Given the description of an element on the screen output the (x, y) to click on. 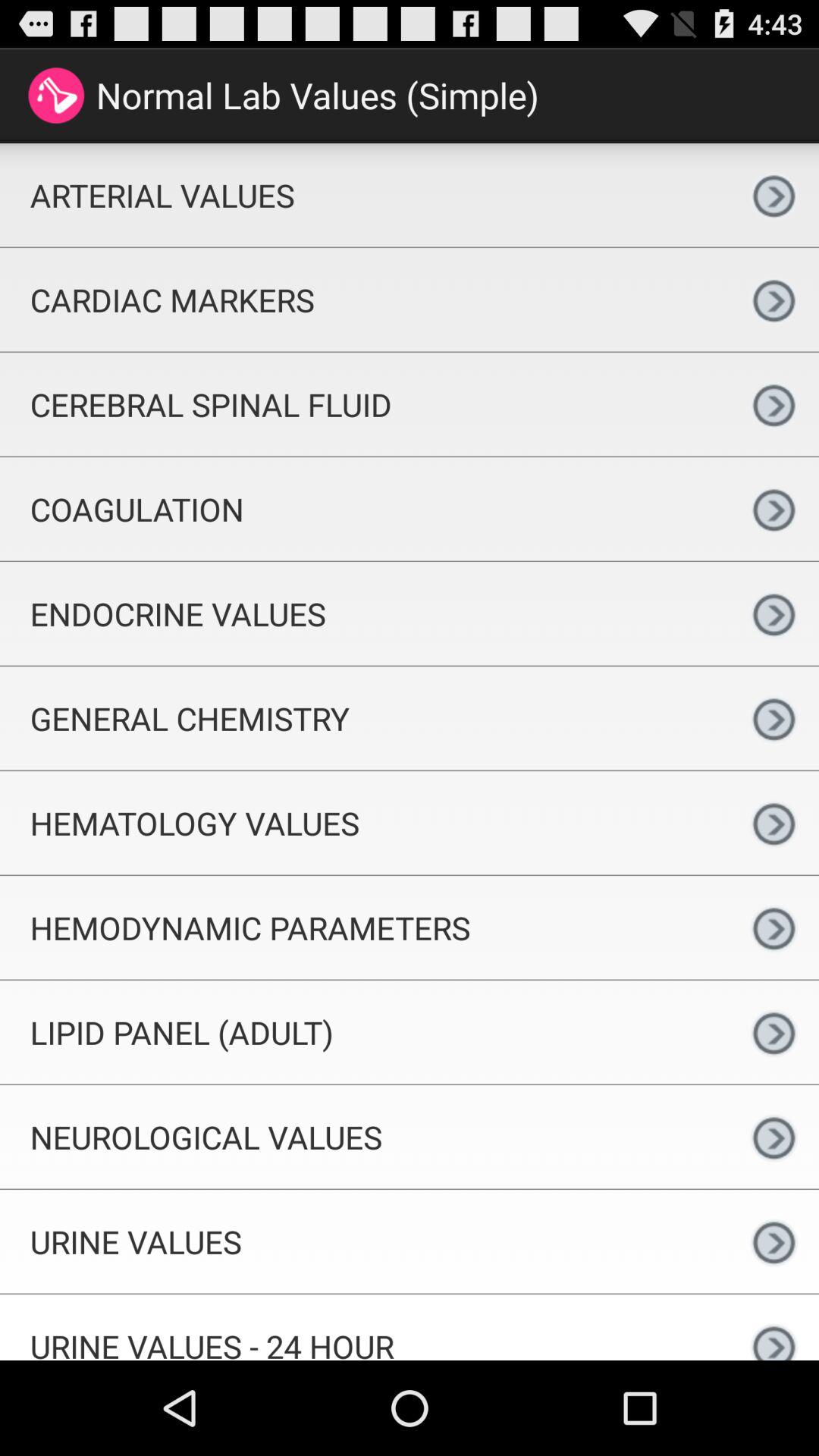
click the cardiac markers icon (364, 299)
